Given the description of an element on the screen output the (x, y) to click on. 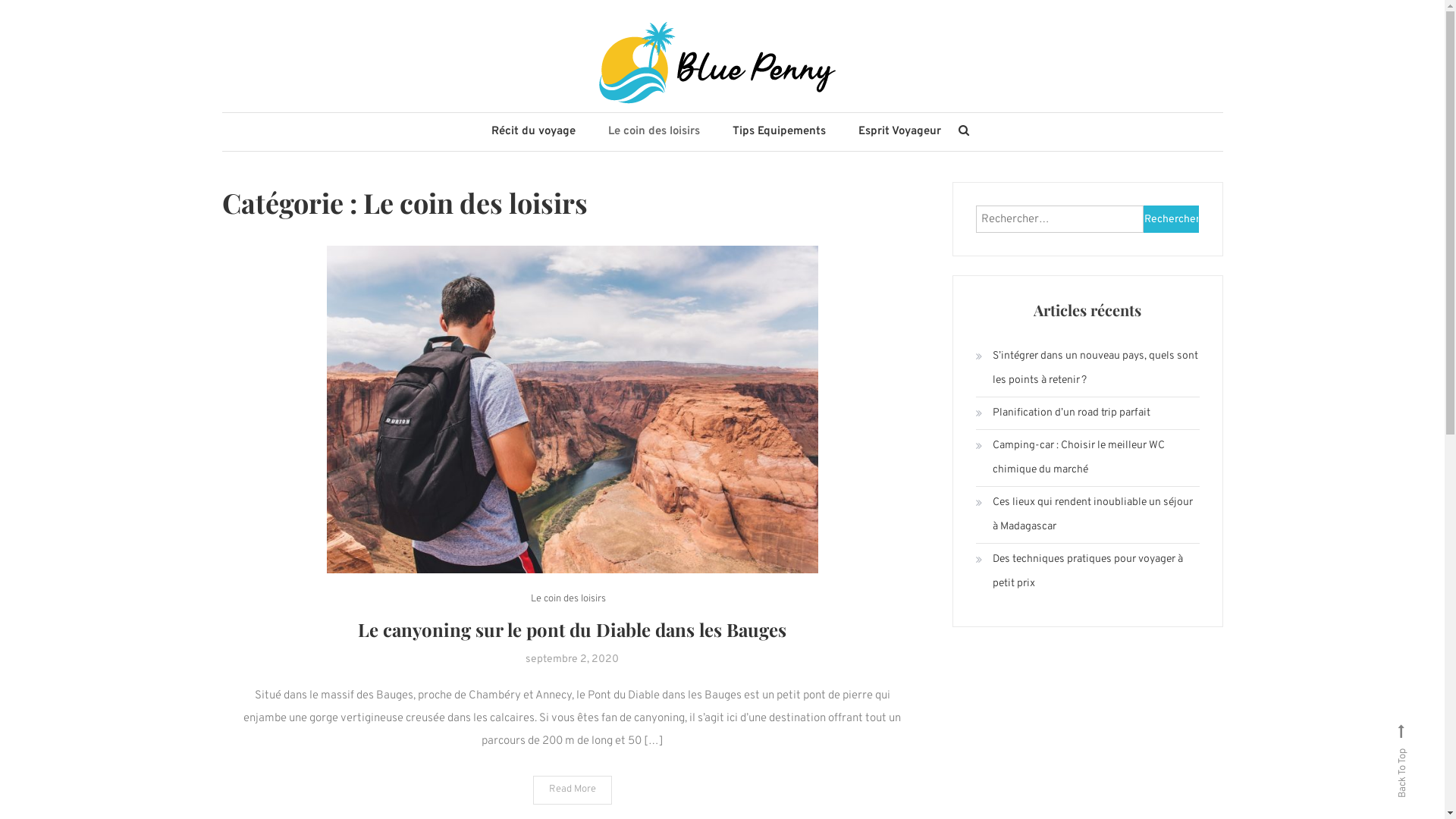
Le coin des loisirs Element type: text (567, 599)
septembre 2, 2020 Element type: text (571, 658)
Esprit Voyageur Element type: text (899, 131)
Read More Element type: text (571, 789)
Le canyoning sur le pont du Diable dans les Bauges Element type: text (571, 629)
Rechercher Element type: text (778, 432)
Tips Equipements Element type: text (778, 131)
Rechercher Element type: text (1171, 218)
Le coin des loisirs Element type: text (654, 131)
Blue Penny Element type: text (317, 137)
